Given the description of an element on the screen output the (x, y) to click on. 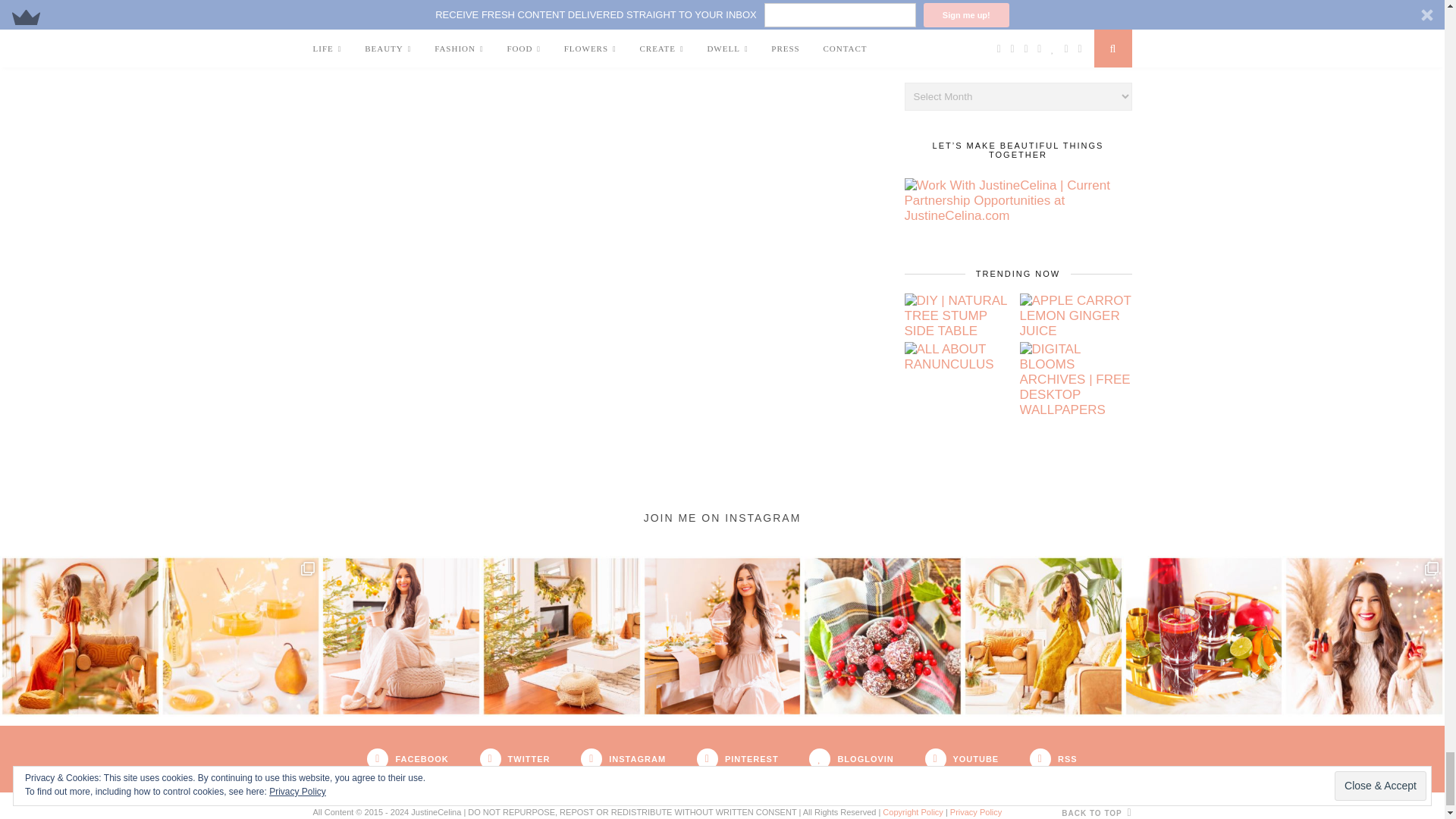
APPLE CARROT LEMON GINGER JUICE (1075, 316)
ALL ABOUT RANUNCULUS (960, 357)
